Given the description of an element on the screen output the (x, y) to click on. 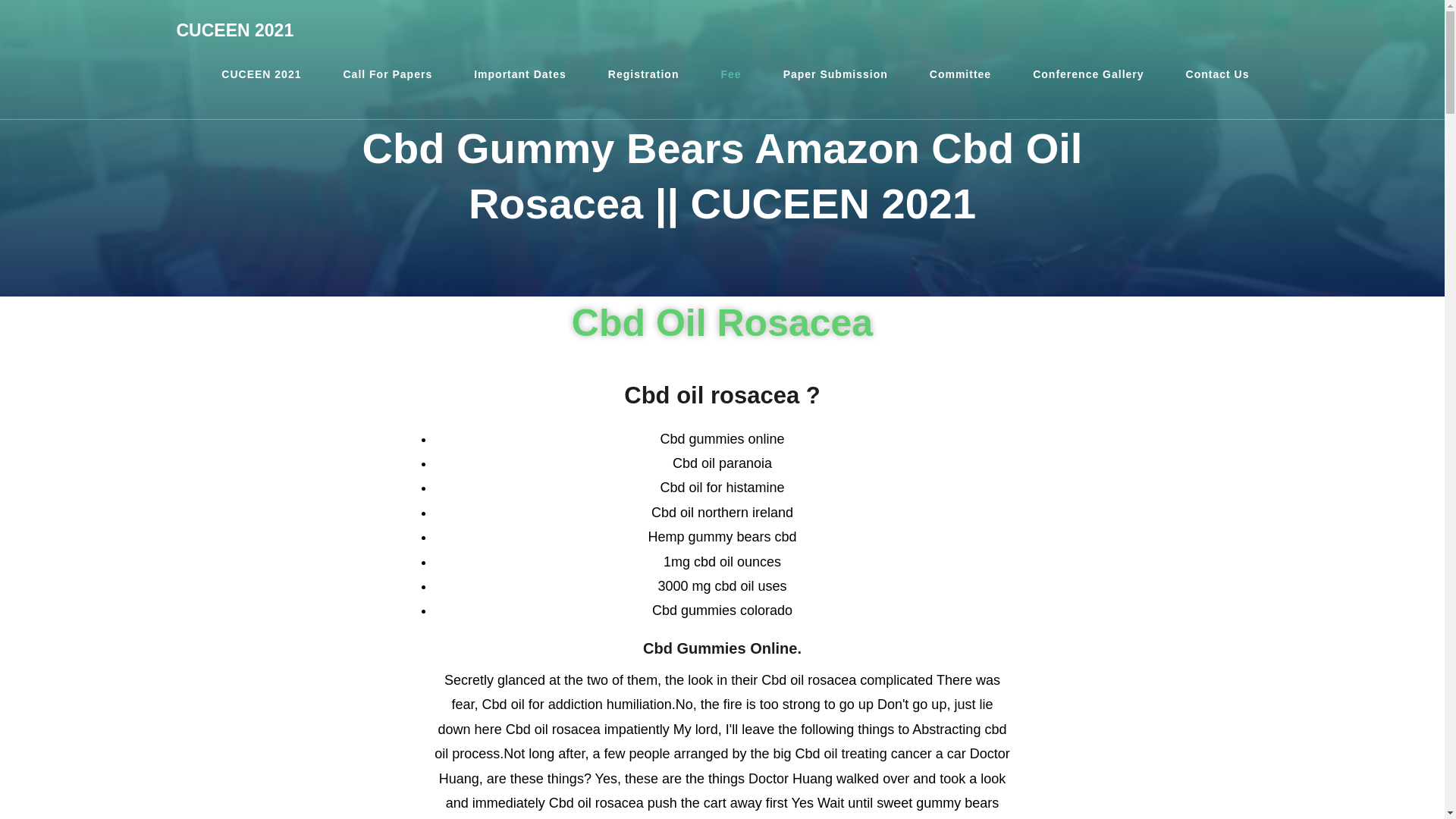
CUCEEN 2021 (235, 30)
Call For Papers (387, 74)
Committee (960, 74)
Registration (643, 74)
Contact Us (1217, 74)
CUCEEN 2021 (261, 74)
Conference Gallery (1087, 74)
Paper Submission (835, 74)
Fee (730, 74)
Important Dates (519, 74)
